Given the description of an element on the screen output the (x, y) to click on. 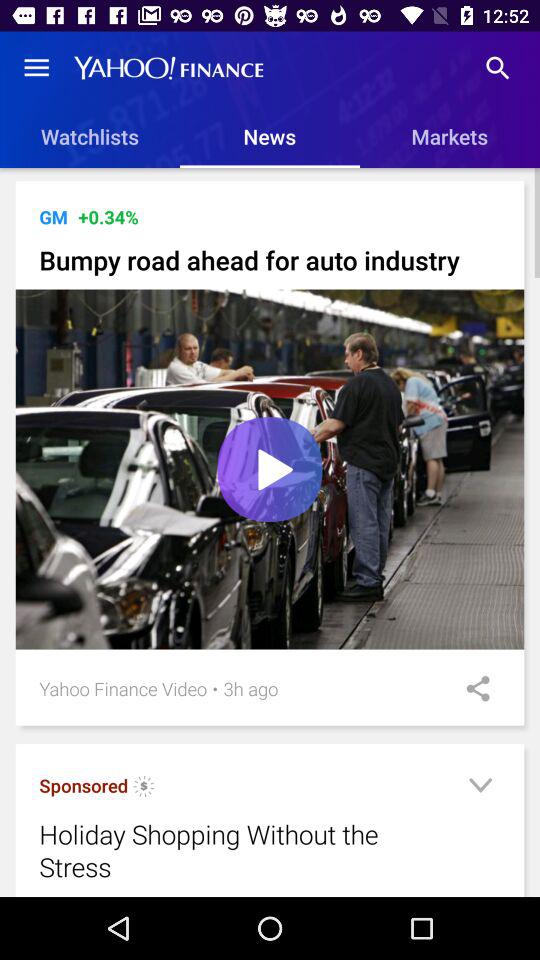
more info (480, 788)
